Given the description of an element on the screen output the (x, y) to click on. 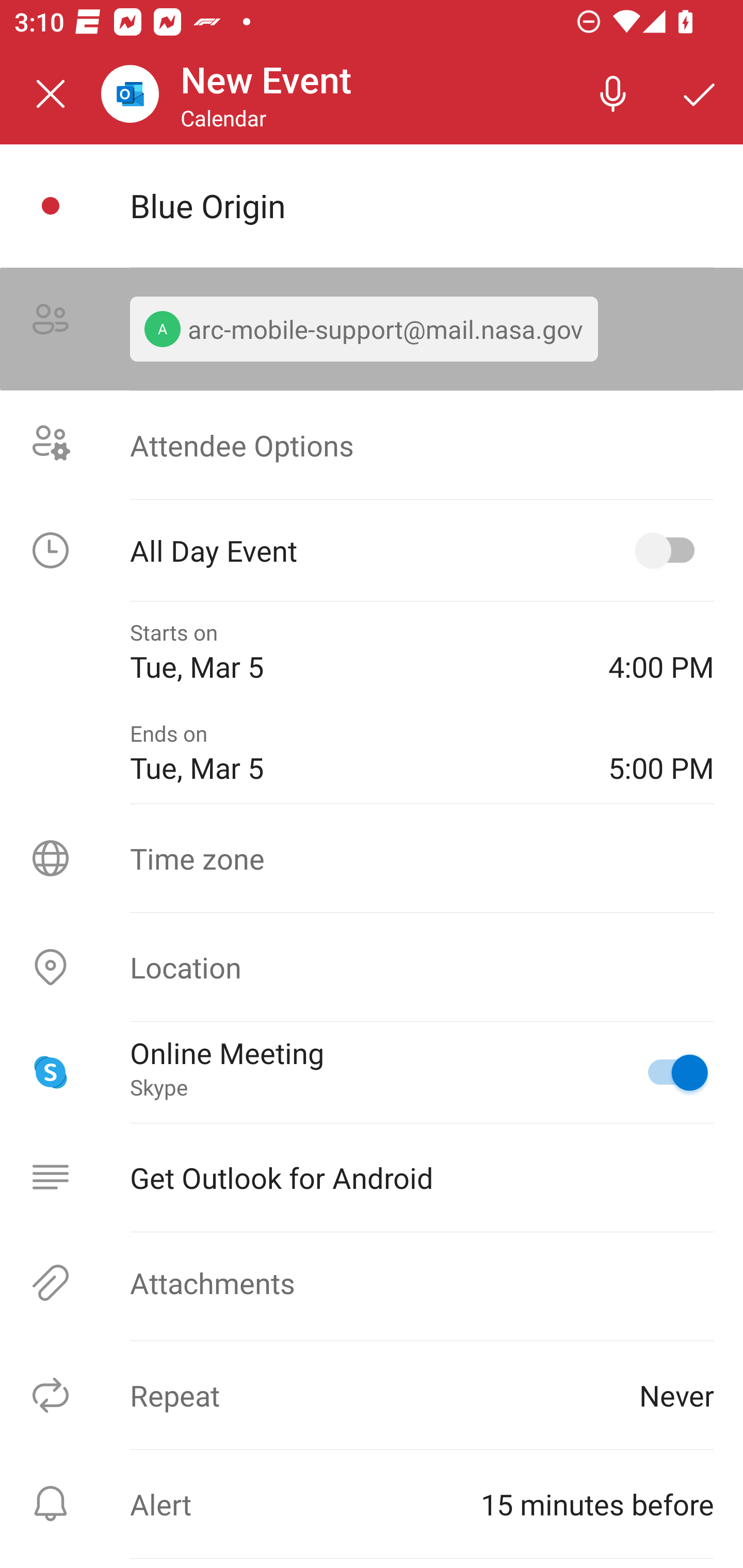
Close (50, 93)
Save (699, 93)
Blue Origin (422, 205)
Event icon picker (50, 206)
Attendee Options (371, 444)
All Day Event (371, 550)
Starts on Tue, Mar 5 (354, 652)
4:00 PM (660, 652)
Ends on Tue, Mar 5 (354, 752)
5:00 PM (660, 752)
Time zone (371, 858)
Location (371, 966)
Online Meeting, Skype selected (669, 1072)
Attachments (371, 1282)
Repeat Never (371, 1394)
Alert ⁨15 minutes before (371, 1504)
